Given the description of an element on the screen output the (x, y) to click on. 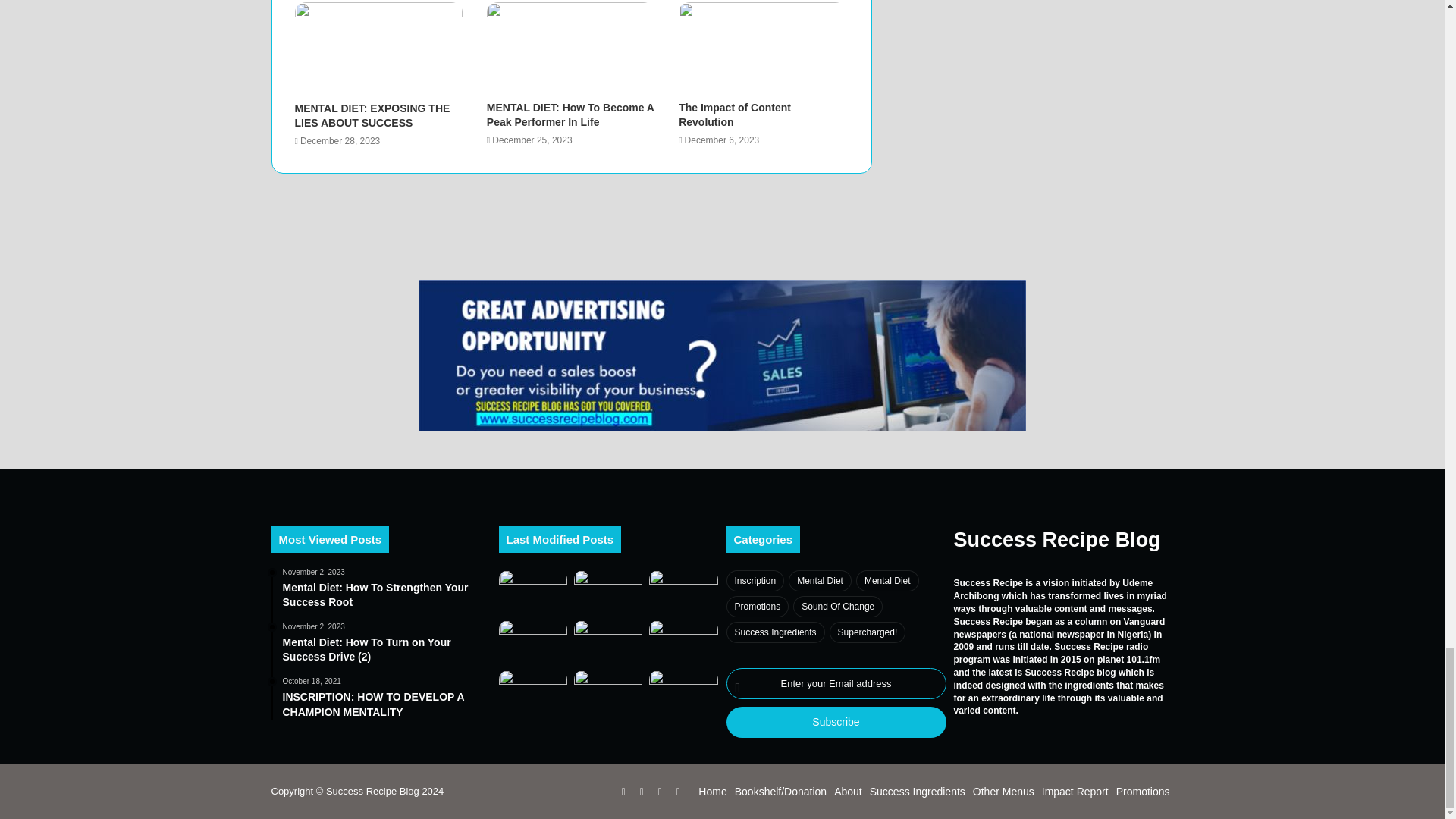
Subscribe (836, 721)
